Given the description of an element on the screen output the (x, y) to click on. 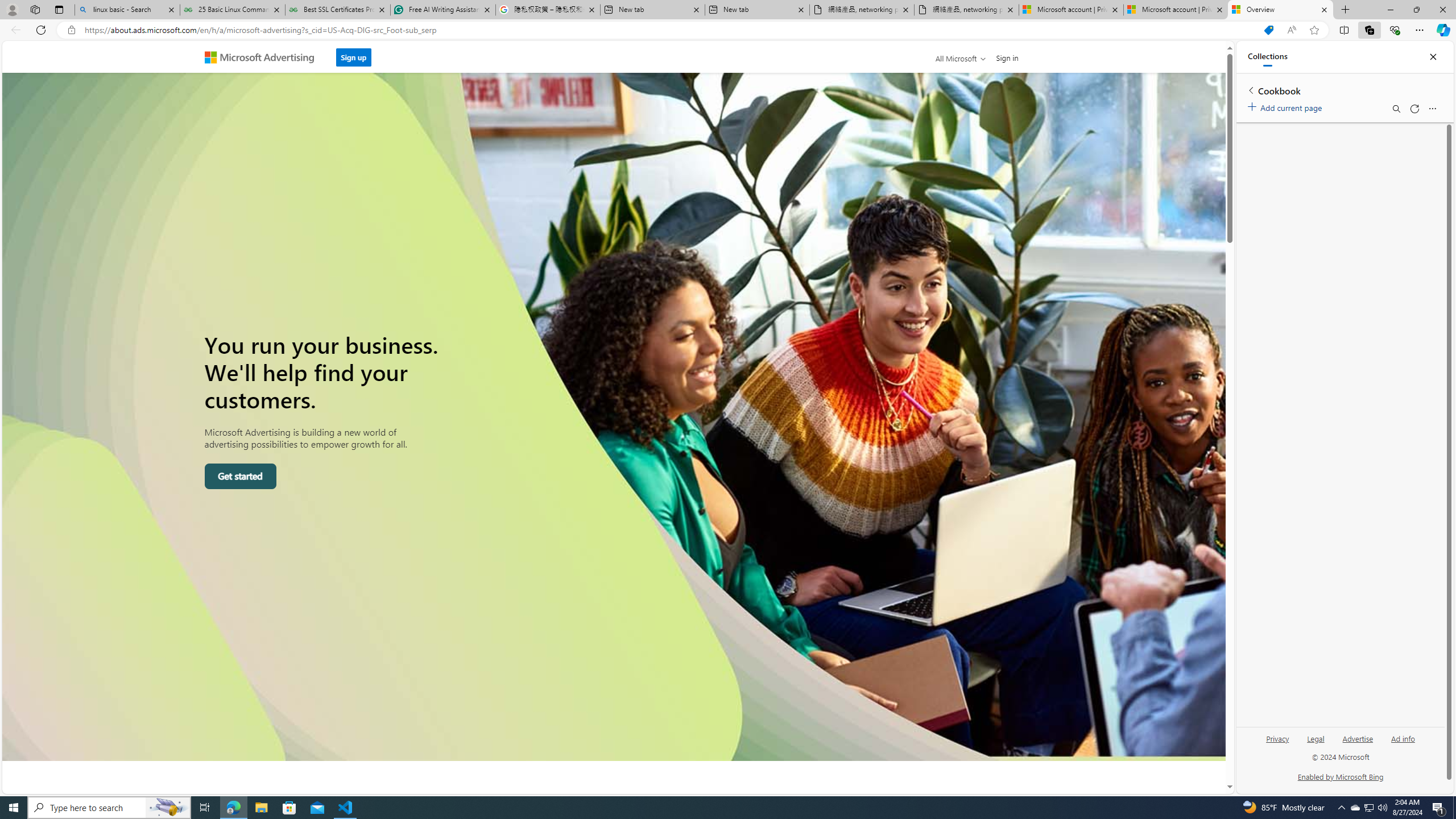
Sign up (352, 57)
Microsoft Advertising (263, 56)
